Given the description of an element on the screen output the (x, y) to click on. 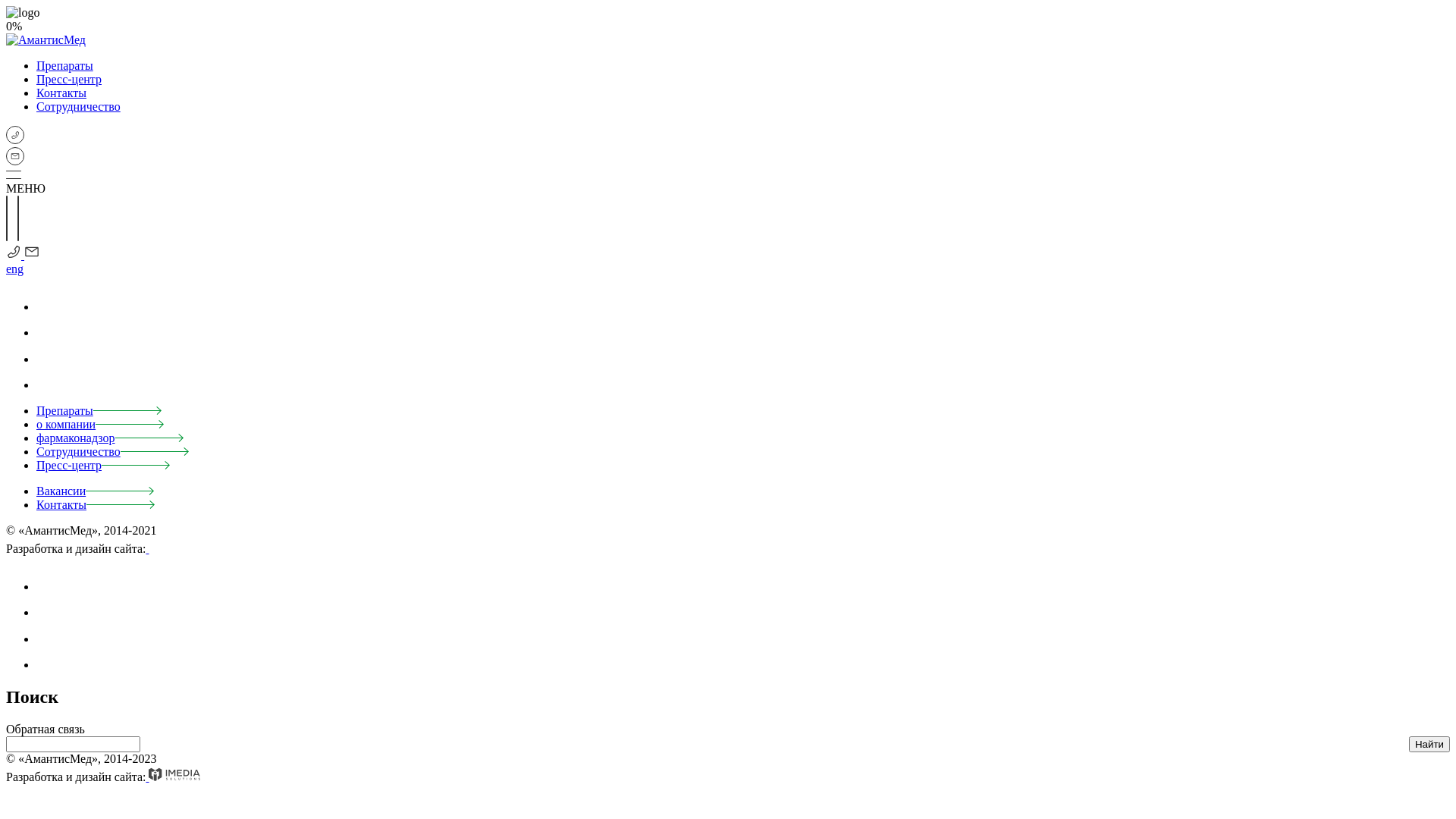
link Element type: hover (47, 358)
link Element type: hover (47, 332)
link Element type: hover (47, 664)
office@amantismed.by Element type: hover (15, 160)
+375 (17) 555 50 10 Element type: hover (13, 254)
eng Element type: text (14, 268)
link Element type: hover (47, 611)
link Element type: hover (47, 638)
link Element type: hover (47, 586)
link Element type: hover (47, 384)
+375 (17) 555 50 10 Element type: hover (15, 139)
link Element type: hover (47, 306)
office@amantismed.by Element type: hover (30, 254)
